Given the description of an element on the screen output the (x, y) to click on. 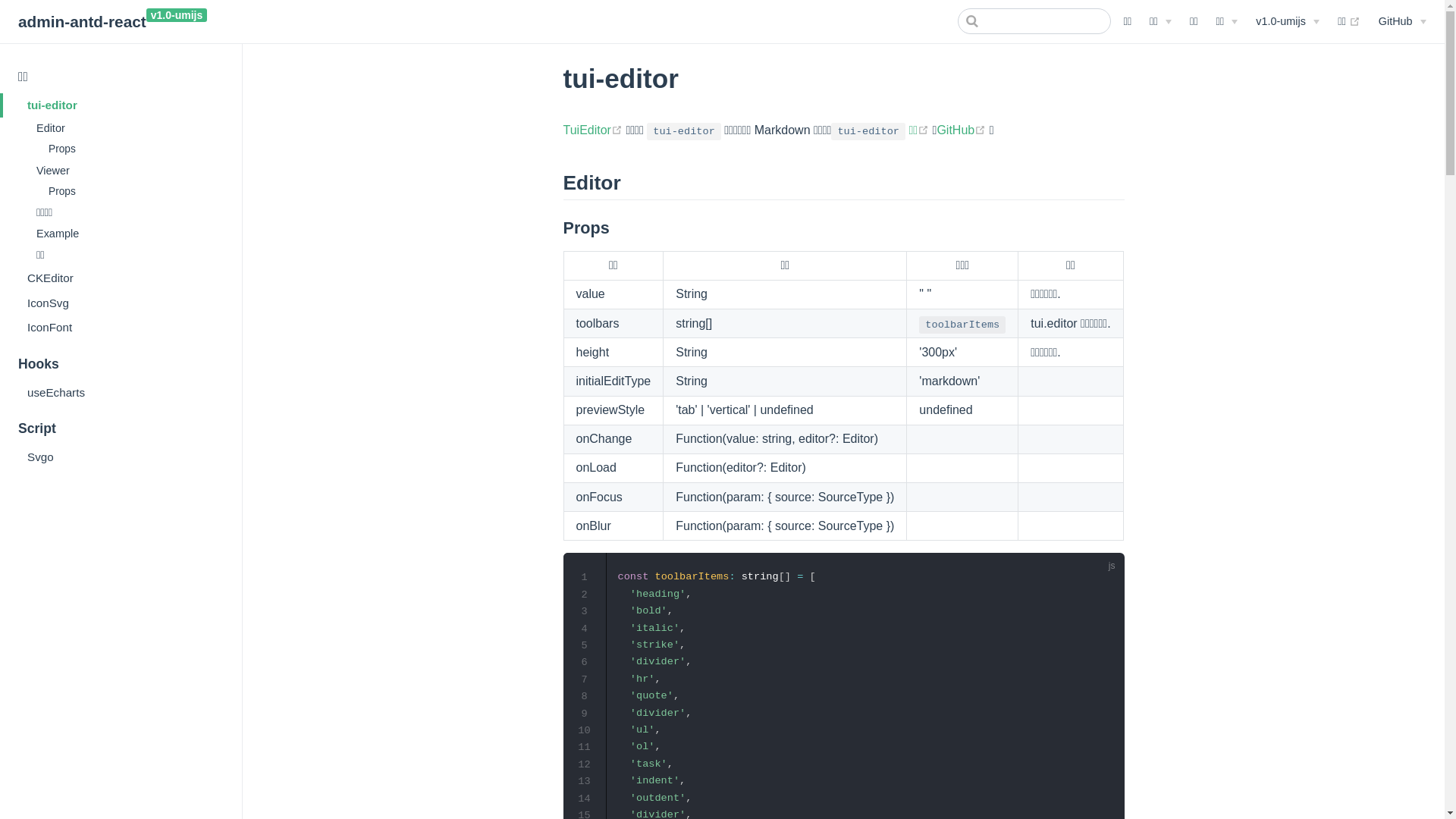
tui-editor Element type: text (120, 105)
Viewer Element type: text (126, 170)
IconSvg Element type: text (120, 302)
IconFont Element type: text (120, 327)
Props Element type: text (132, 191)
TuiEditor
(opens new window) Element type: text (593, 129)
useEcharts Element type: text (120, 391)
GitHub Element type: text (1402, 20)
v1.0-umijs Element type: text (1287, 20)
admin-antd-reactv1.0-umijs Element type: text (112, 22)
Editor Element type: text (126, 127)
Example Element type: text (126, 233)
Svgo Element type: text (120, 457)
Props Element type: text (132, 148)
CKEditor Element type: text (120, 278)
GitHub
(opens new window) Element type: text (962, 129)
